Given the description of an element on the screen output the (x, y) to click on. 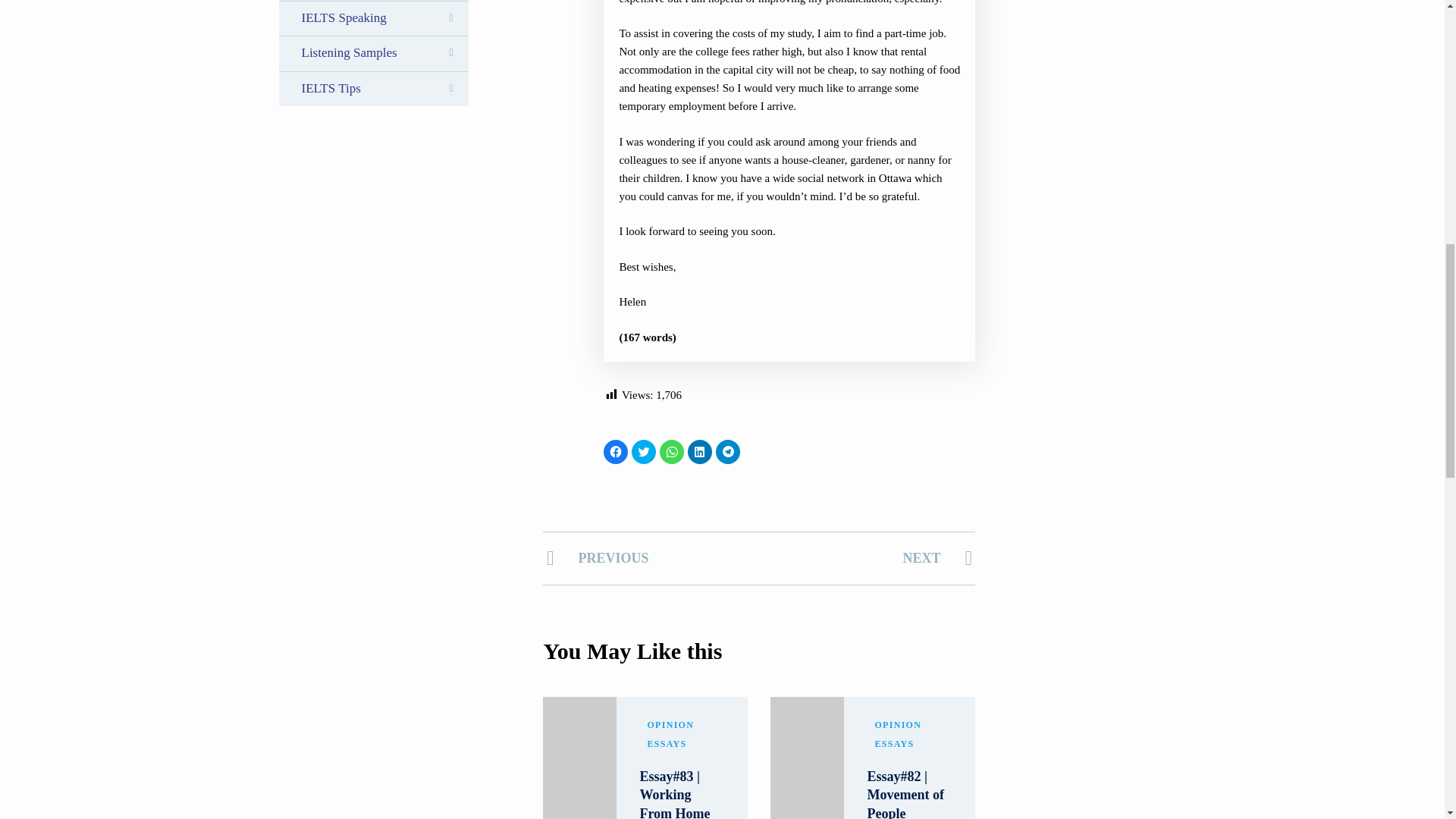
Click to share on Facebook (615, 451)
Click to share on Telegram (727, 451)
Click to share on WhatsApp (671, 451)
Click to share on LinkedIn (699, 451)
Click to share on Twitter (643, 451)
